Given the description of an element on the screen output the (x, y) to click on. 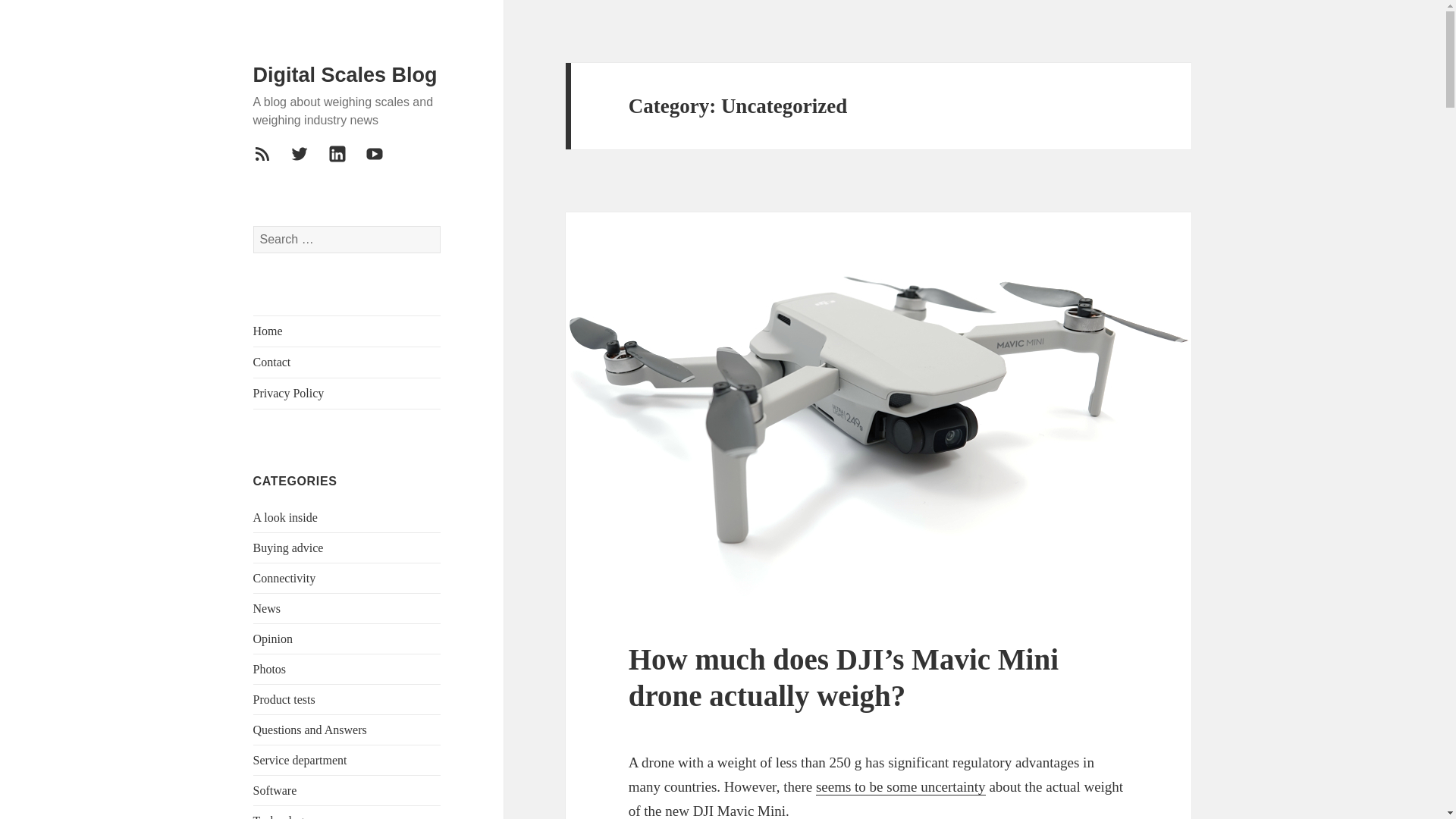
Twitter (307, 162)
Privacy Policy (347, 393)
Connectivity (284, 577)
A look inside (285, 517)
seems to be some uncertainty (900, 786)
Opinion (272, 638)
YouTube (383, 162)
Software (275, 789)
Service department (300, 759)
DJI Mavic Mini (739, 810)
RSS Feed (271, 162)
Product tests (284, 698)
Digital Scales Blog (345, 74)
News (267, 608)
LinkedIn (347, 162)
